Given the description of an element on the screen output the (x, y) to click on. 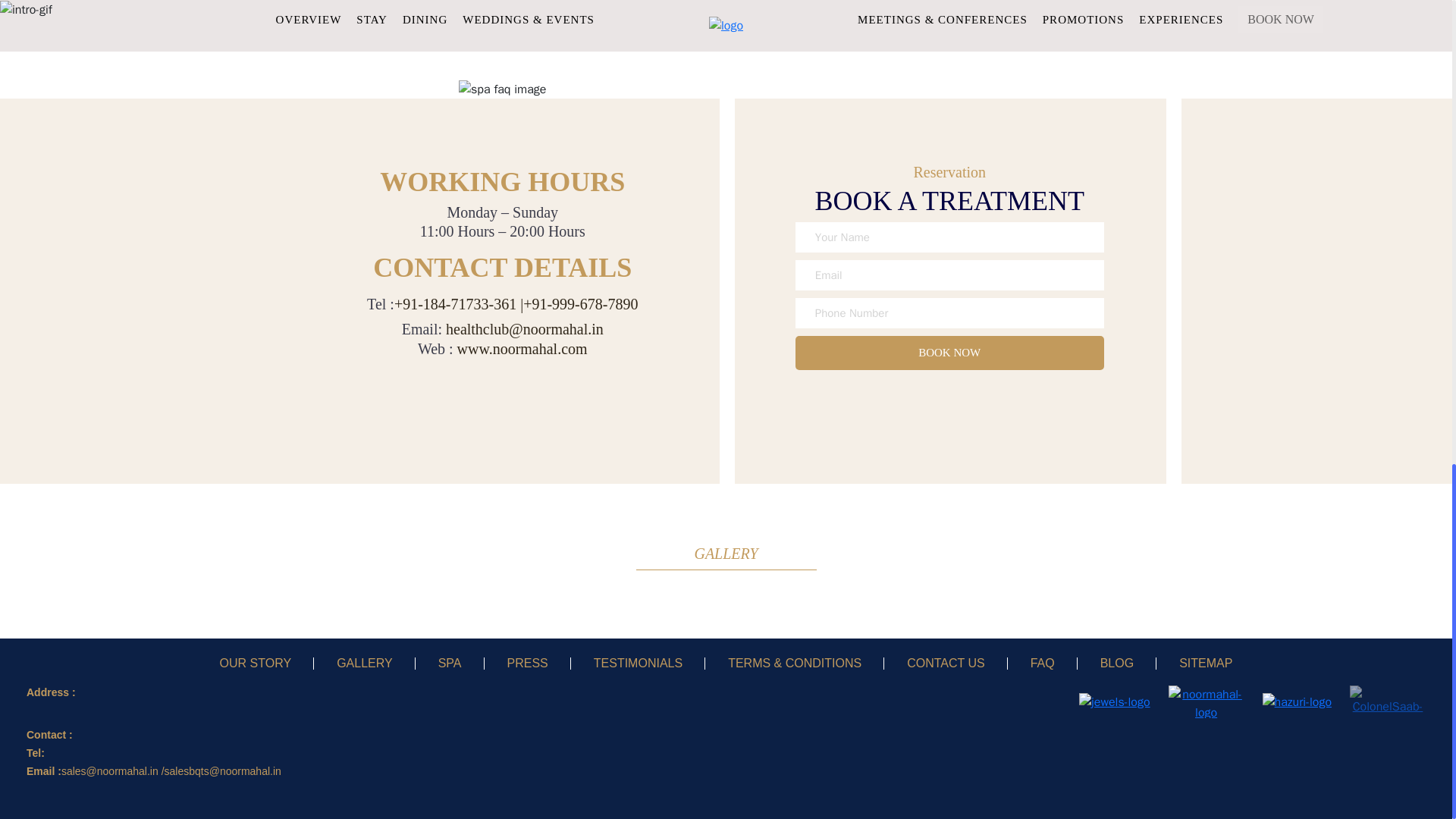
TESTIMONIALS (638, 663)
GALLERY (364, 663)
BOOK NOW (948, 352)
www.noormahal.com (522, 349)
PRESS (527, 663)
OUR STORY (255, 663)
SPA (449, 663)
